Given the description of an element on the screen output the (x, y) to click on. 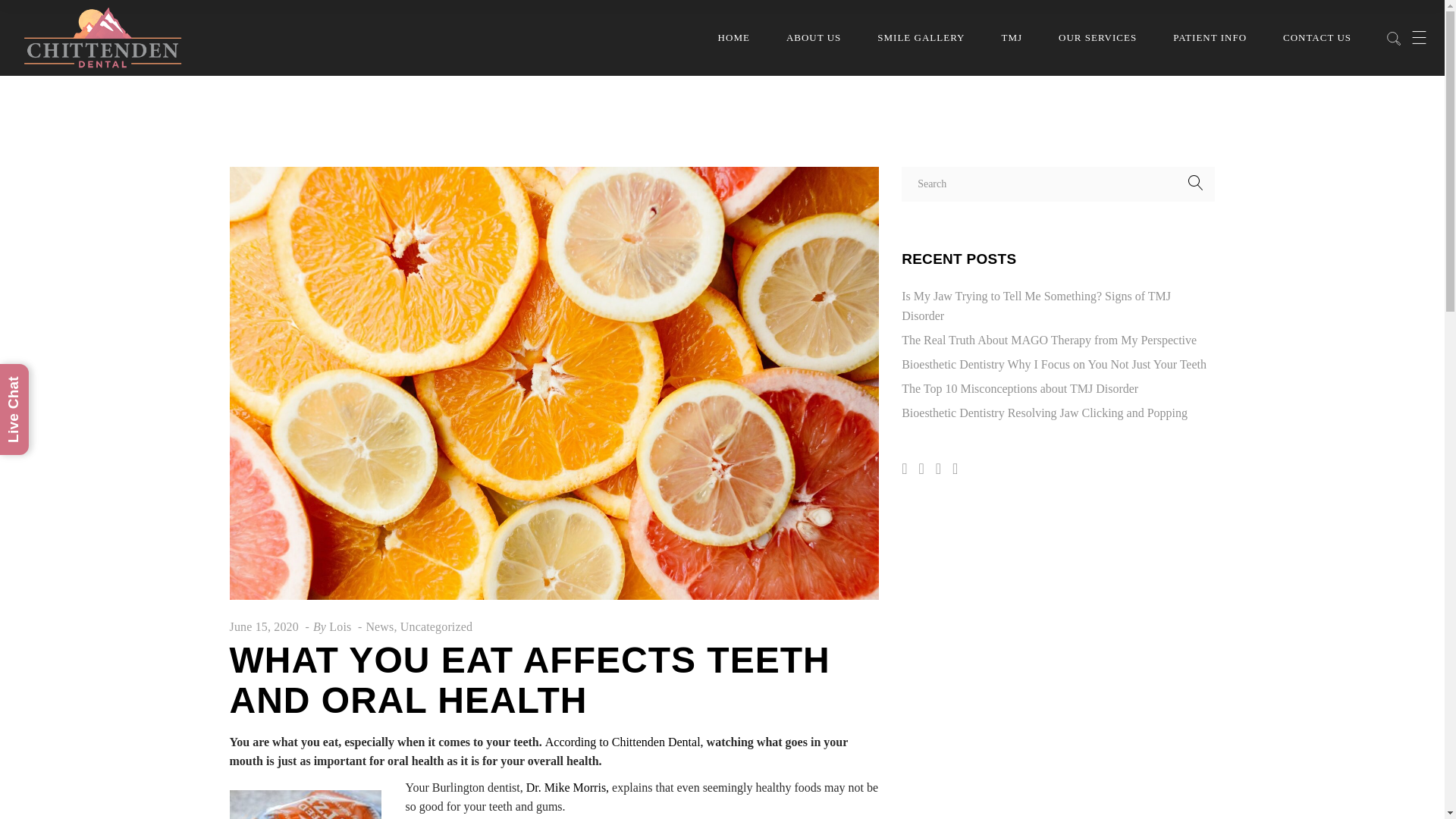
CONTACT US (1316, 38)
ABOUT US (813, 38)
Search for: (1057, 184)
SMILE GALLERY (920, 38)
PATIENT INFO (1209, 38)
OUR SERVICES (1097, 38)
TMJ (1012, 38)
HOME (733, 38)
What You Eat Affects Teeth and Oral Health (263, 626)
